Given the description of an element on the screen output the (x, y) to click on. 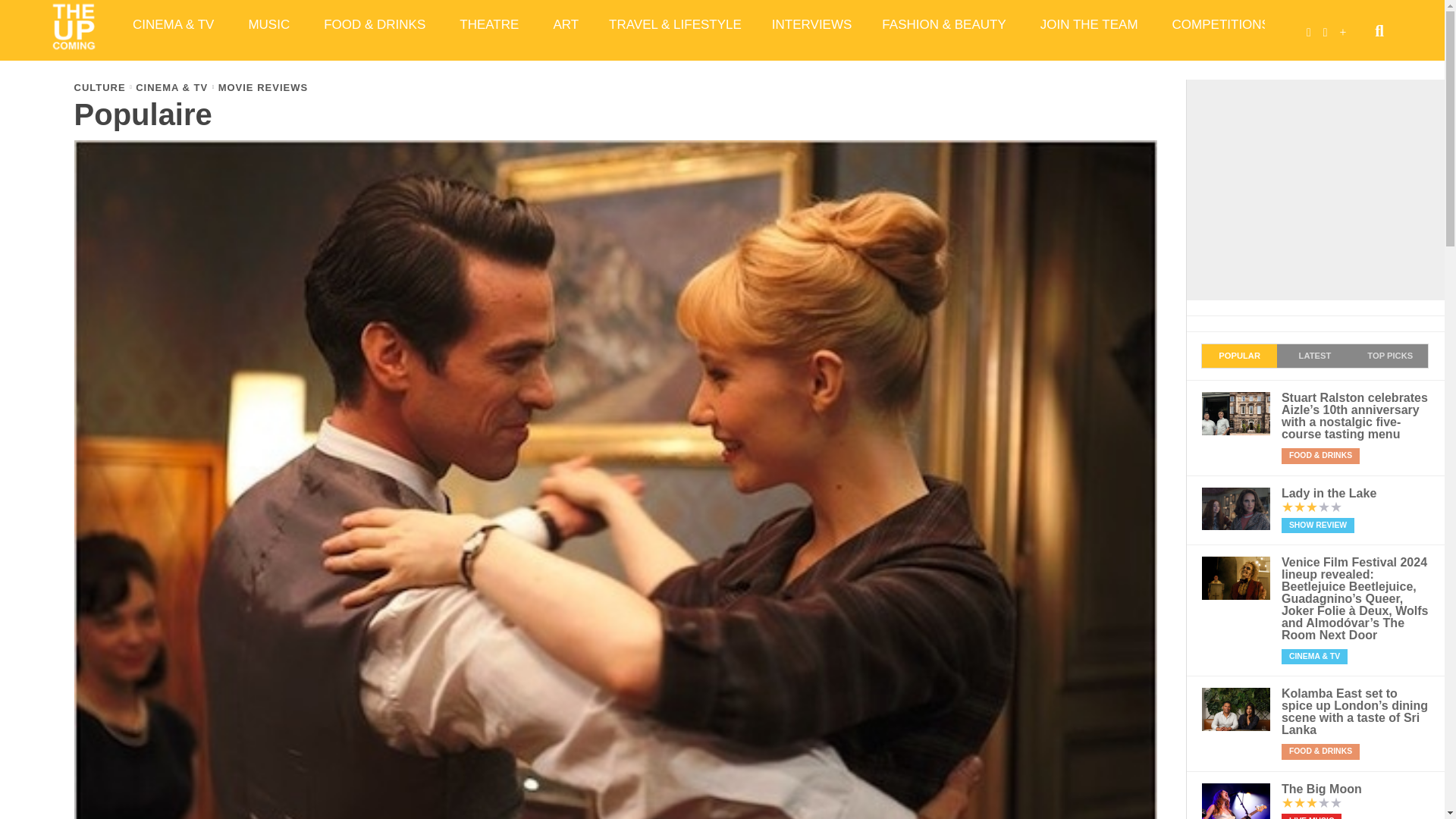
MUSIC (270, 24)
INTERVIEWS (811, 24)
ART (565, 24)
THEATRE (490, 24)
JOIN THE TEAM (1091, 24)
